Given the description of an element on the screen output the (x, y) to click on. 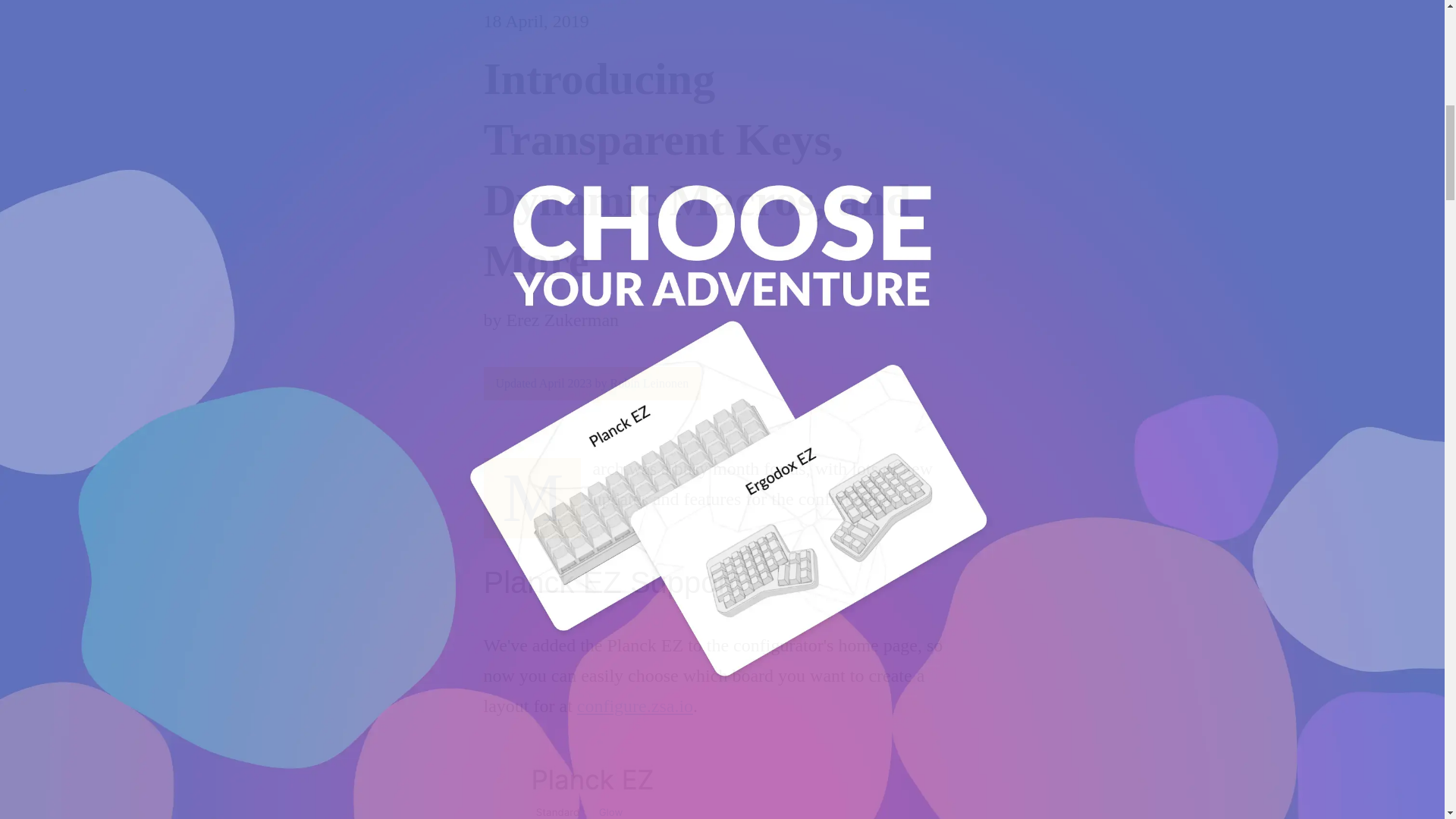
configure.zsa.io (634, 705)
